Given the description of an element on the screen output the (x, y) to click on. 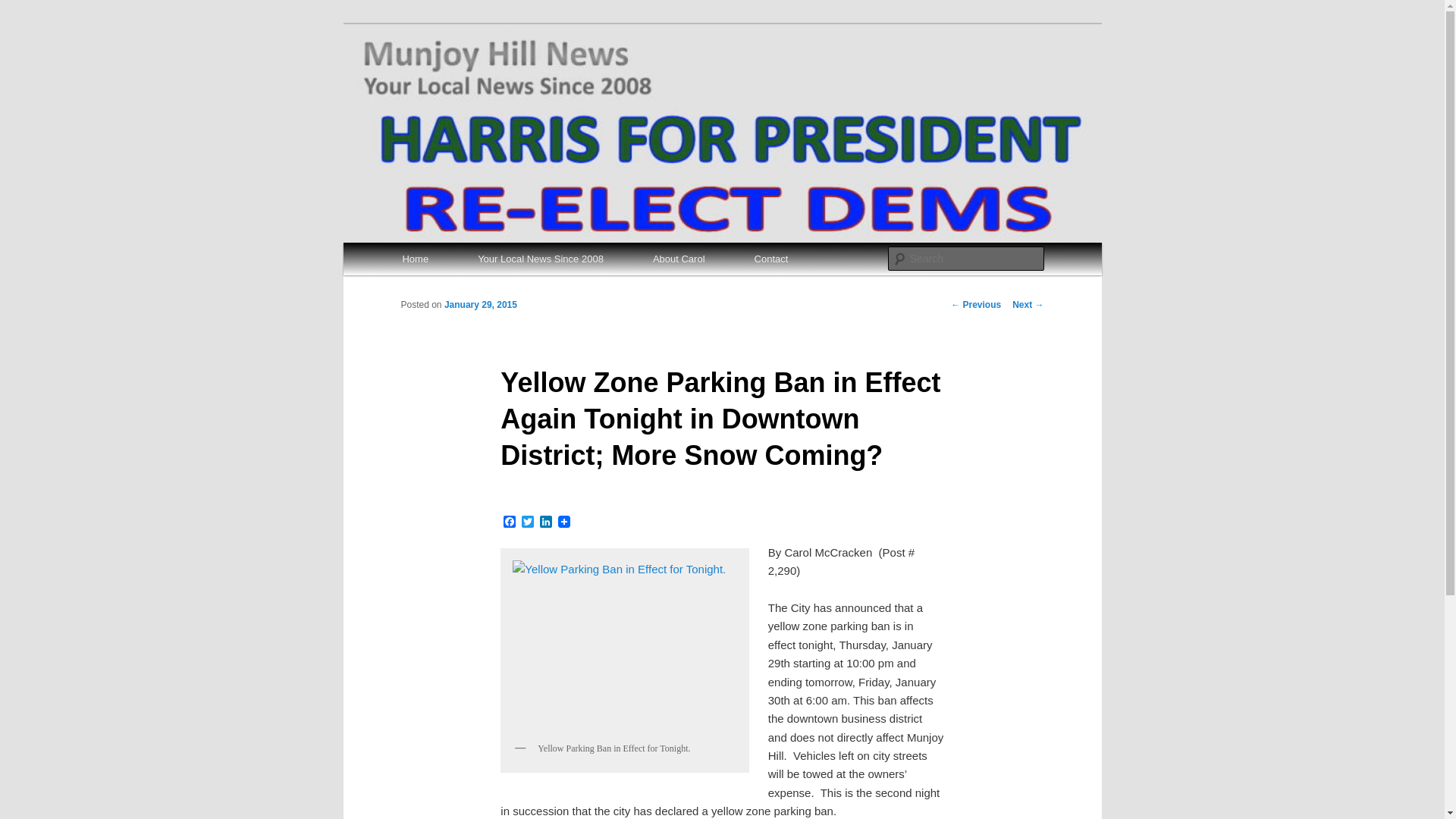
Facebook (509, 522)
Twitter (527, 522)
LinkedIn (545, 522)
January 29, 2015 (480, 304)
Contact (770, 258)
About Carol (678, 258)
LinkedIn (545, 522)
Twitter (527, 522)
Home (414, 258)
Your Local News Since 2008 (540, 258)
Search (24, 8)
11:10 am (480, 304)
Munjoy Hill News (494, 78)
Facebook (509, 522)
